Given the description of an element on the screen output the (x, y) to click on. 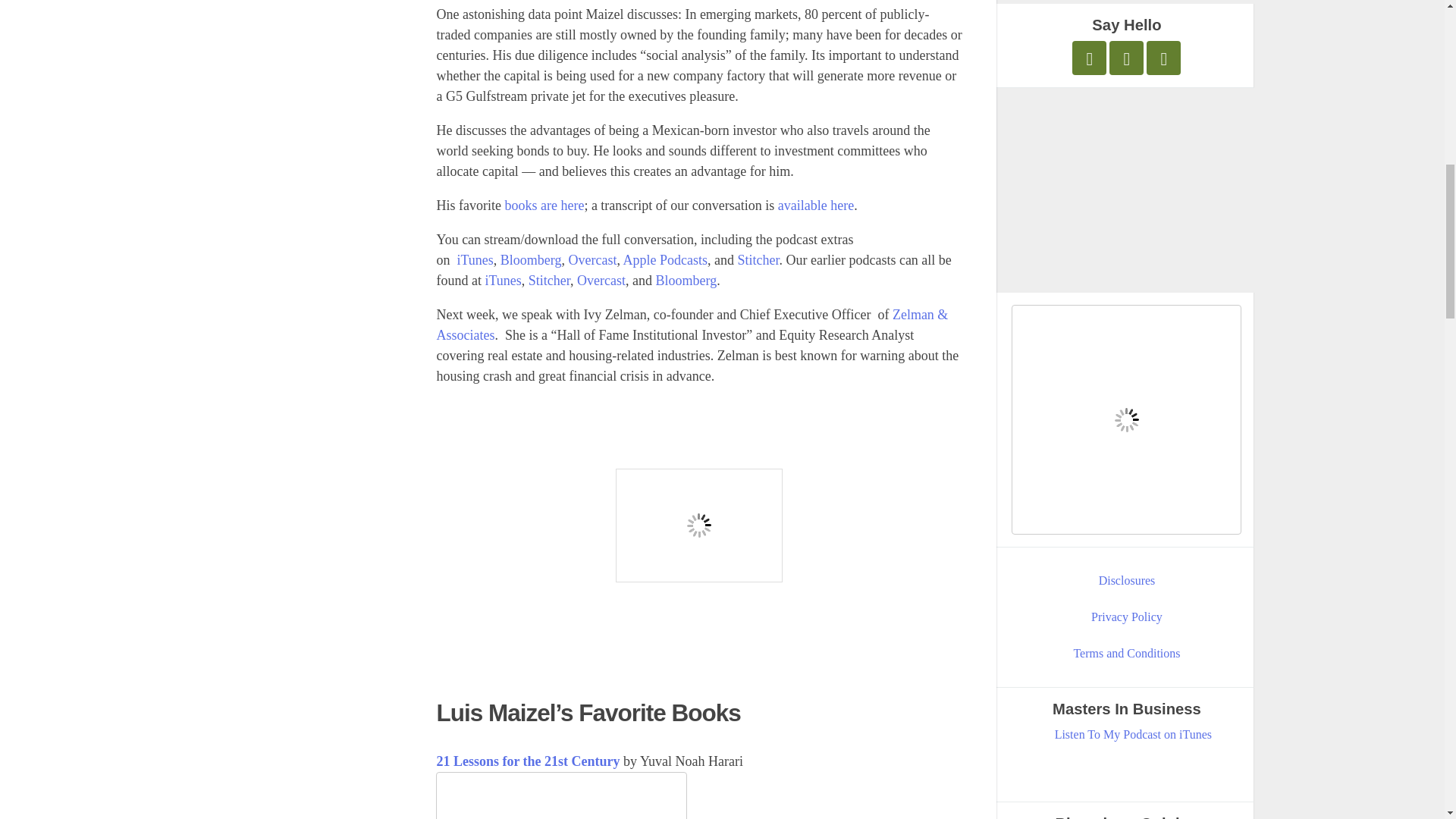
books are here (543, 205)
Overcast (601, 280)
21 Lessons for the 21st Century (527, 761)
Bloomberg (531, 259)
Stitcher (757, 259)
Facebook (1125, 57)
iTunes (502, 280)
Stitcher (549, 280)
Twitter (1088, 57)
iTunes (475, 259)
